Given the description of an element on the screen output the (x, y) to click on. 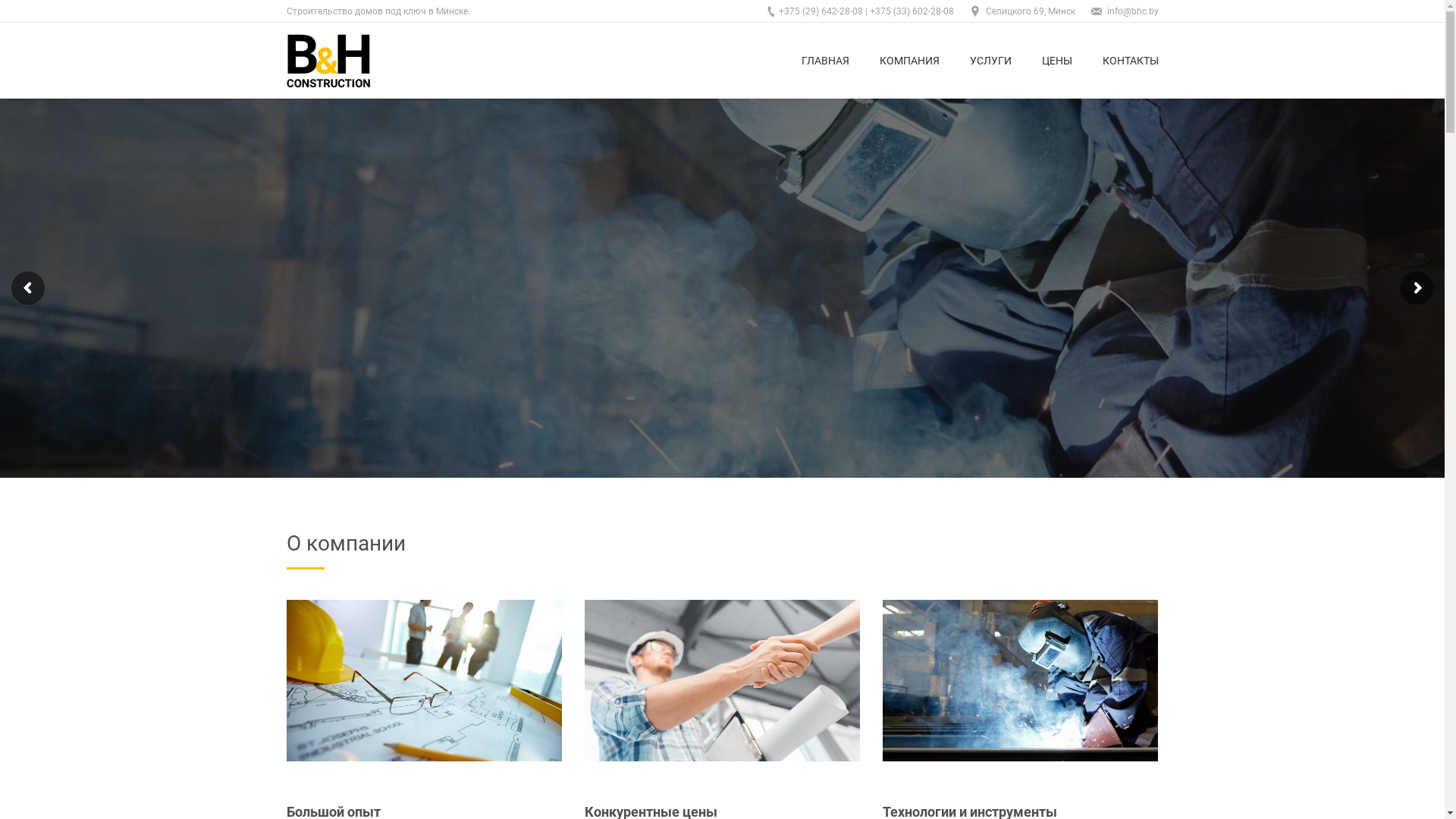
parallax2-1 Element type: hover (721, 680)
slide2.jpg Element type: hover (1019, 680)
partners-700x410 Element type: hover (423, 680)
